Given the description of an element on the screen output the (x, y) to click on. 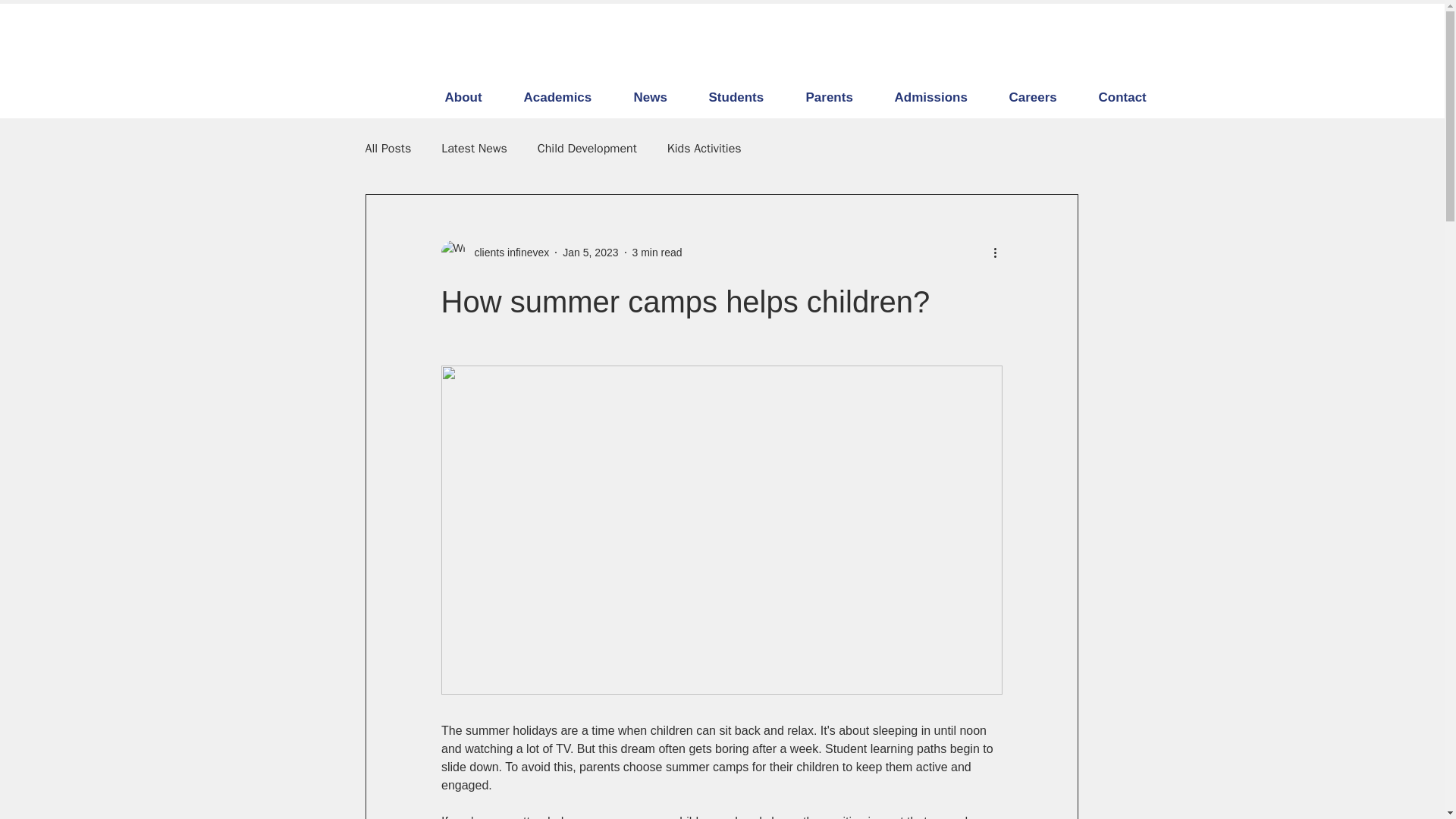
Jan 5, 2023 (589, 251)
Academics (567, 97)
Admissions (939, 97)
Kids Activities (703, 148)
Careers (1042, 97)
News (659, 97)
Latest News (473, 148)
3 min read (656, 251)
Contact (1131, 97)
Parents (838, 97)
